Given the description of an element on the screen output the (x, y) to click on. 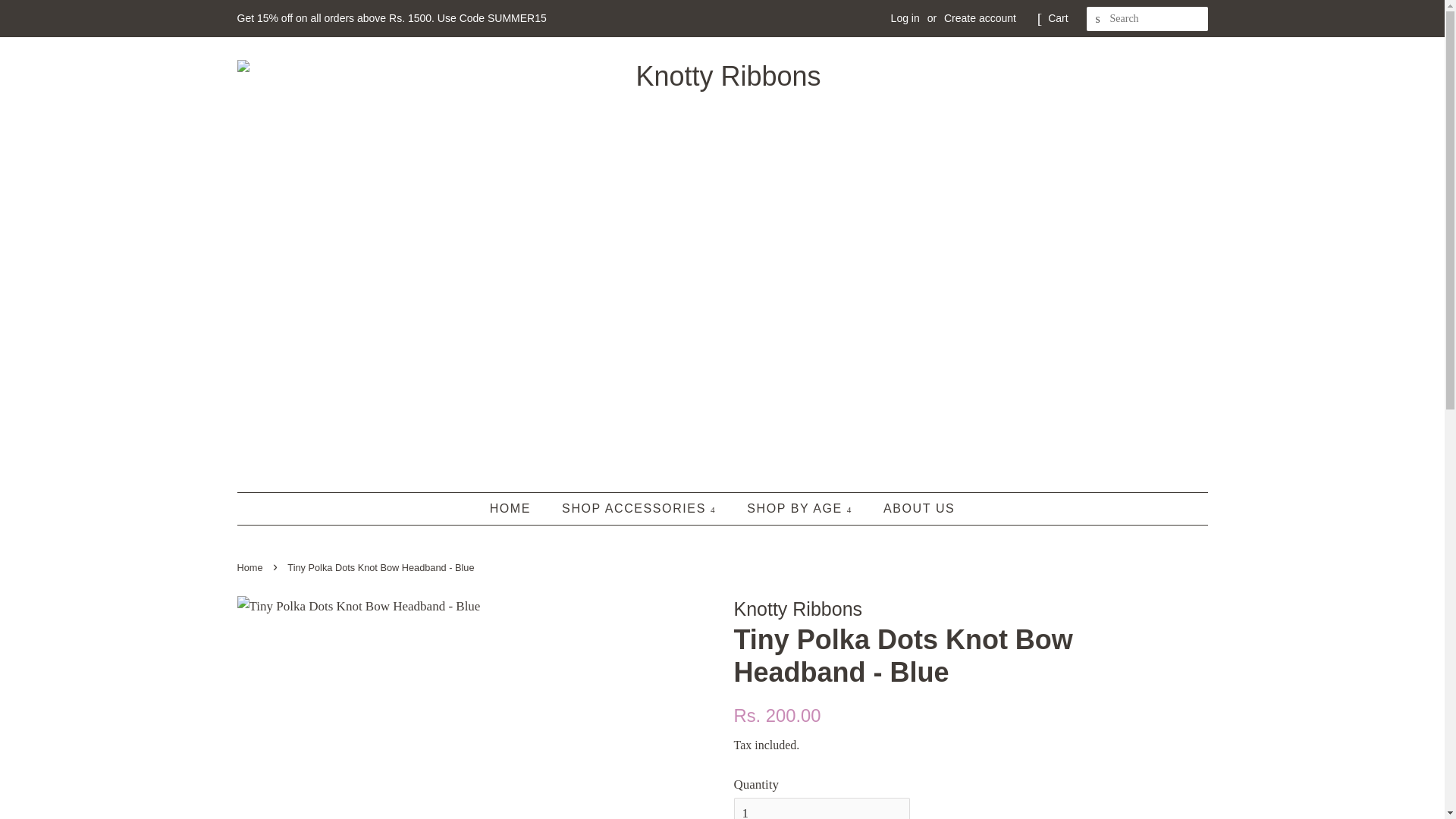
Back to the frontpage (250, 567)
SEARCH (1097, 18)
1 (821, 808)
Cart (1057, 18)
Create account (979, 18)
Log in (905, 18)
